Given the description of an element on the screen output the (x, y) to click on. 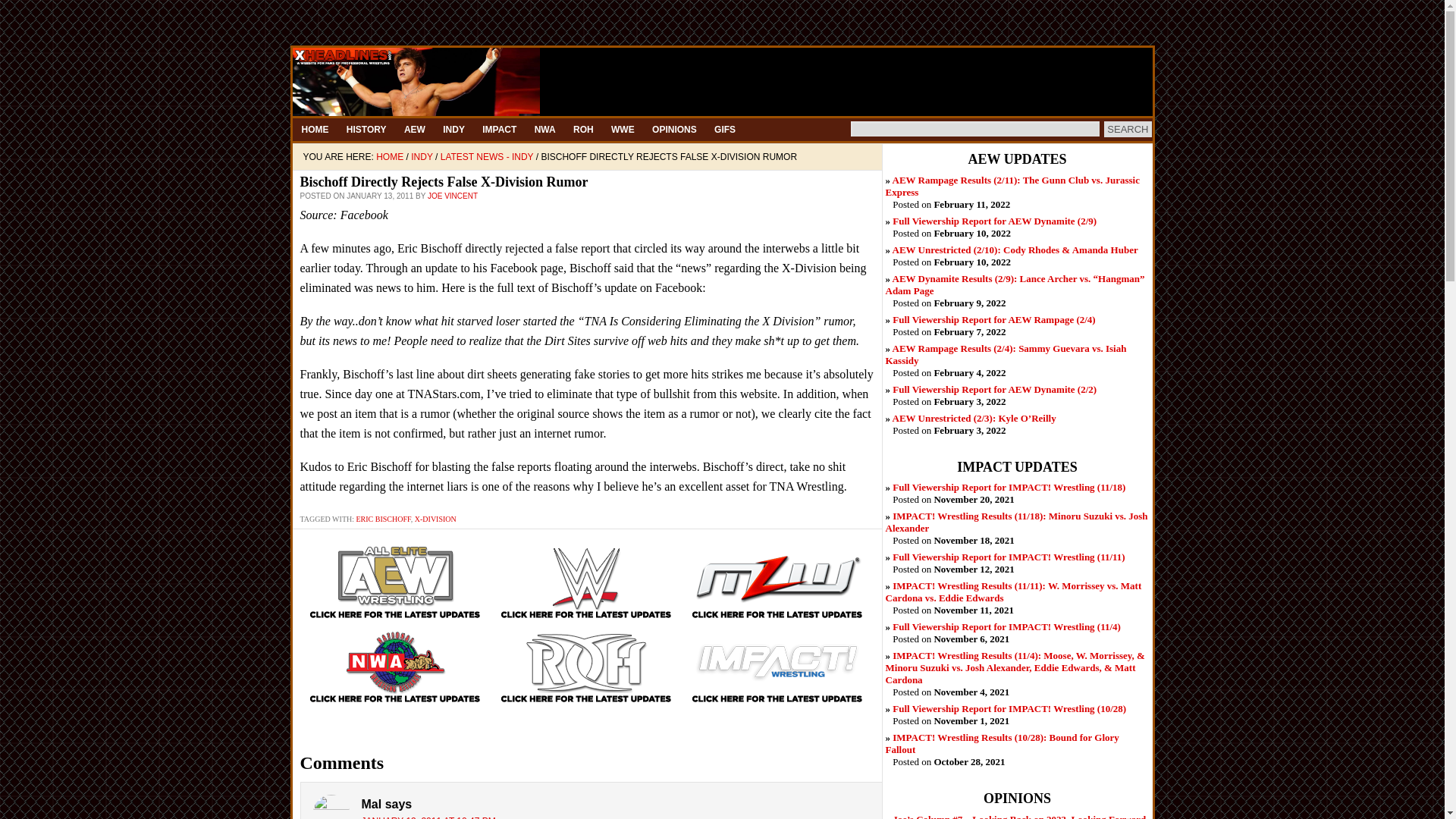
February 7, 2022 (993, 319)
February 4, 2022 (1005, 354)
INDY (453, 128)
OPINIONS (674, 128)
November 18, 2021 (1016, 521)
February 11, 2022 (1012, 186)
November 11, 2021 (1013, 591)
February 10, 2022 (994, 220)
Search (1127, 129)
November 12, 2021 (1008, 556)
HOME (314, 128)
November 20, 2021 (1008, 487)
February 3, 2022 (974, 418)
IMPACT (499, 128)
GIFS (724, 128)
